Given the description of an element on the screen output the (x, y) to click on. 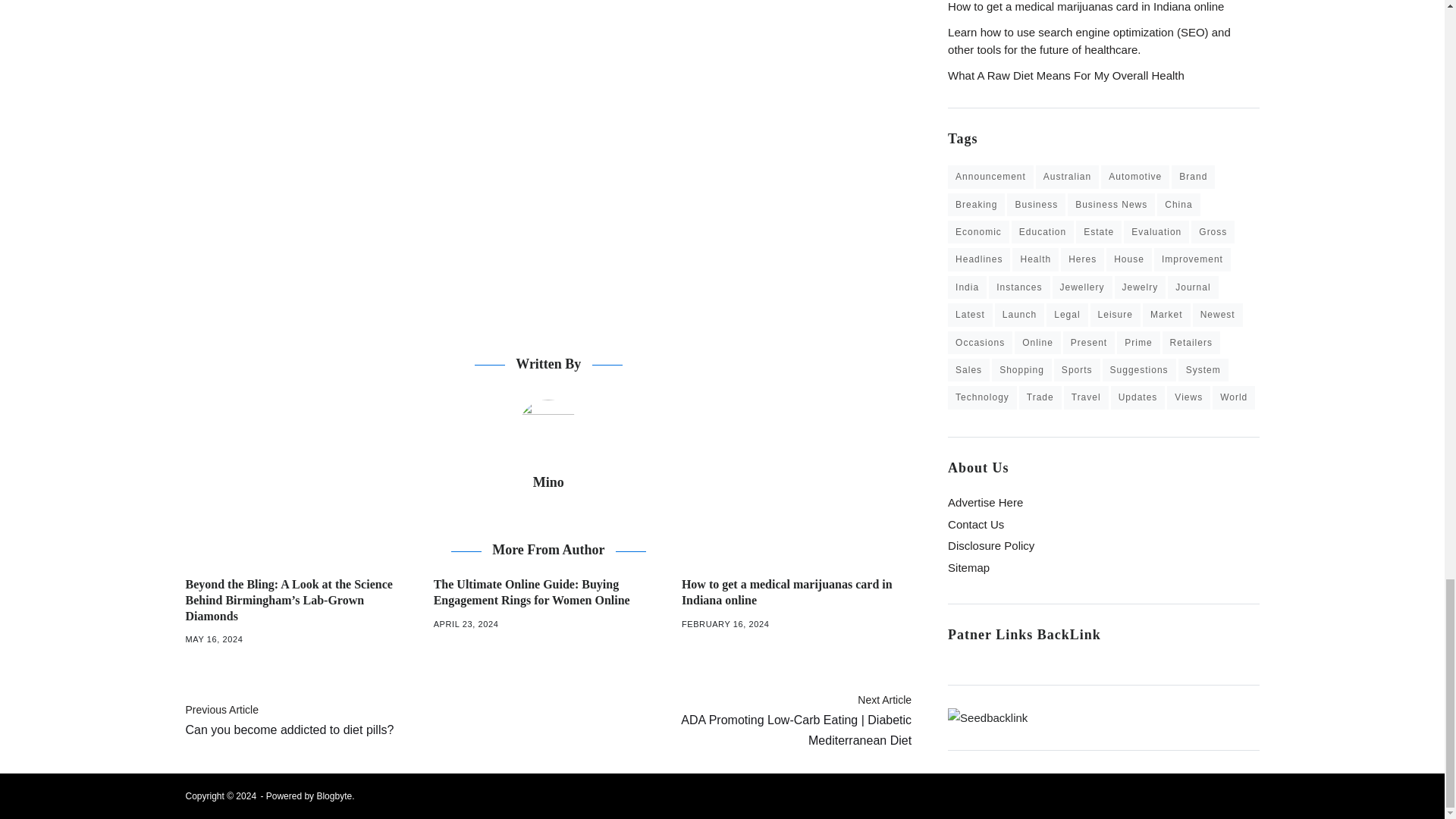
Mino (548, 482)
Mino (548, 429)
Mino (362, 720)
How to get a medical marijuanas card in Indiana online (548, 482)
